Given the description of an element on the screen output the (x, y) to click on. 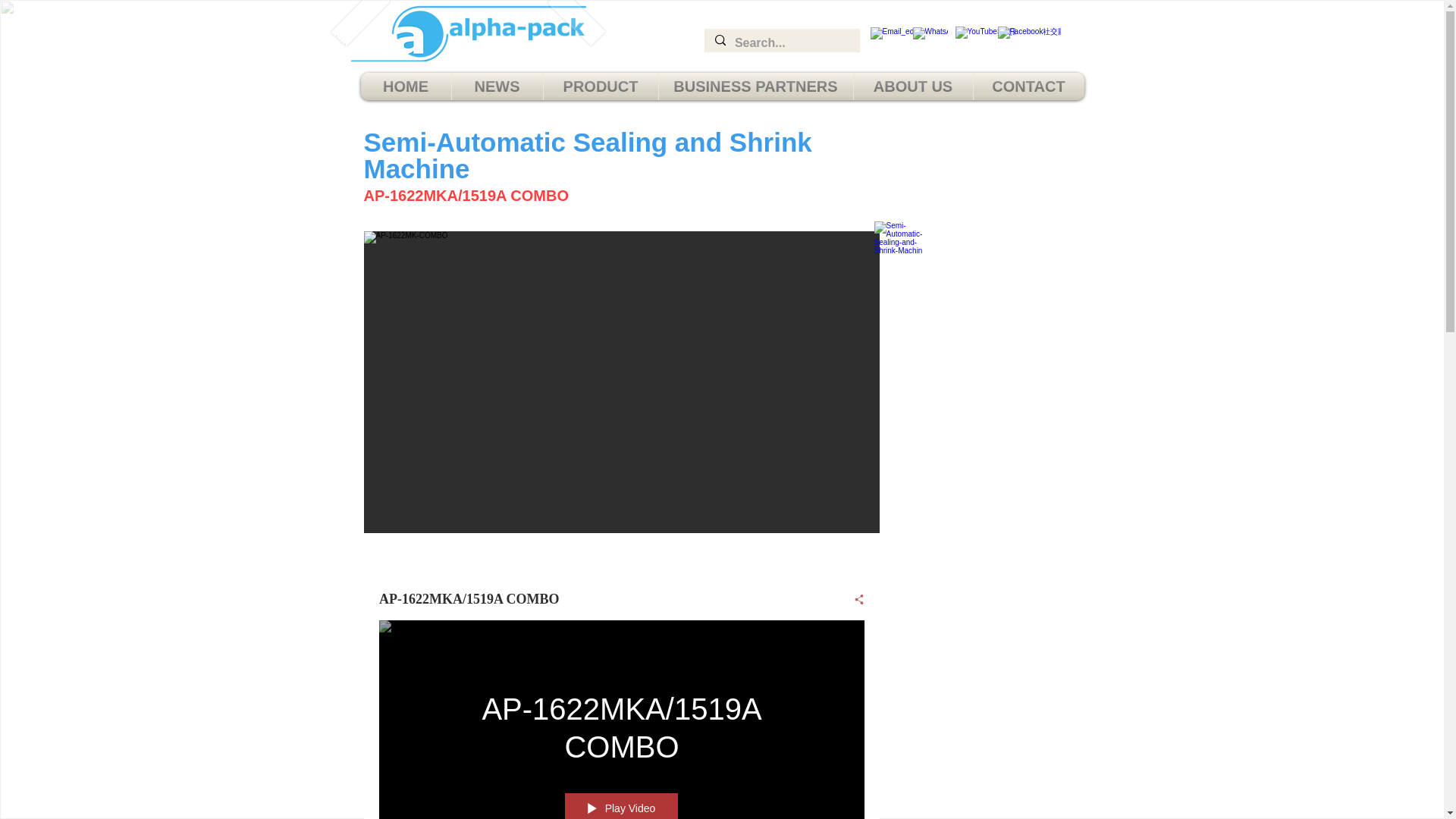
NEWS (497, 85)
ABOUT US (912, 85)
PRODUCT (600, 85)
CONTACT (1029, 85)
HOME (406, 85)
Semi-Automatic-Sealing-and-Shrink-Machin (906, 259)
BUSINESS PARTNERS (754, 85)
Play Video (621, 806)
